Given the description of an element on the screen output the (x, y) to click on. 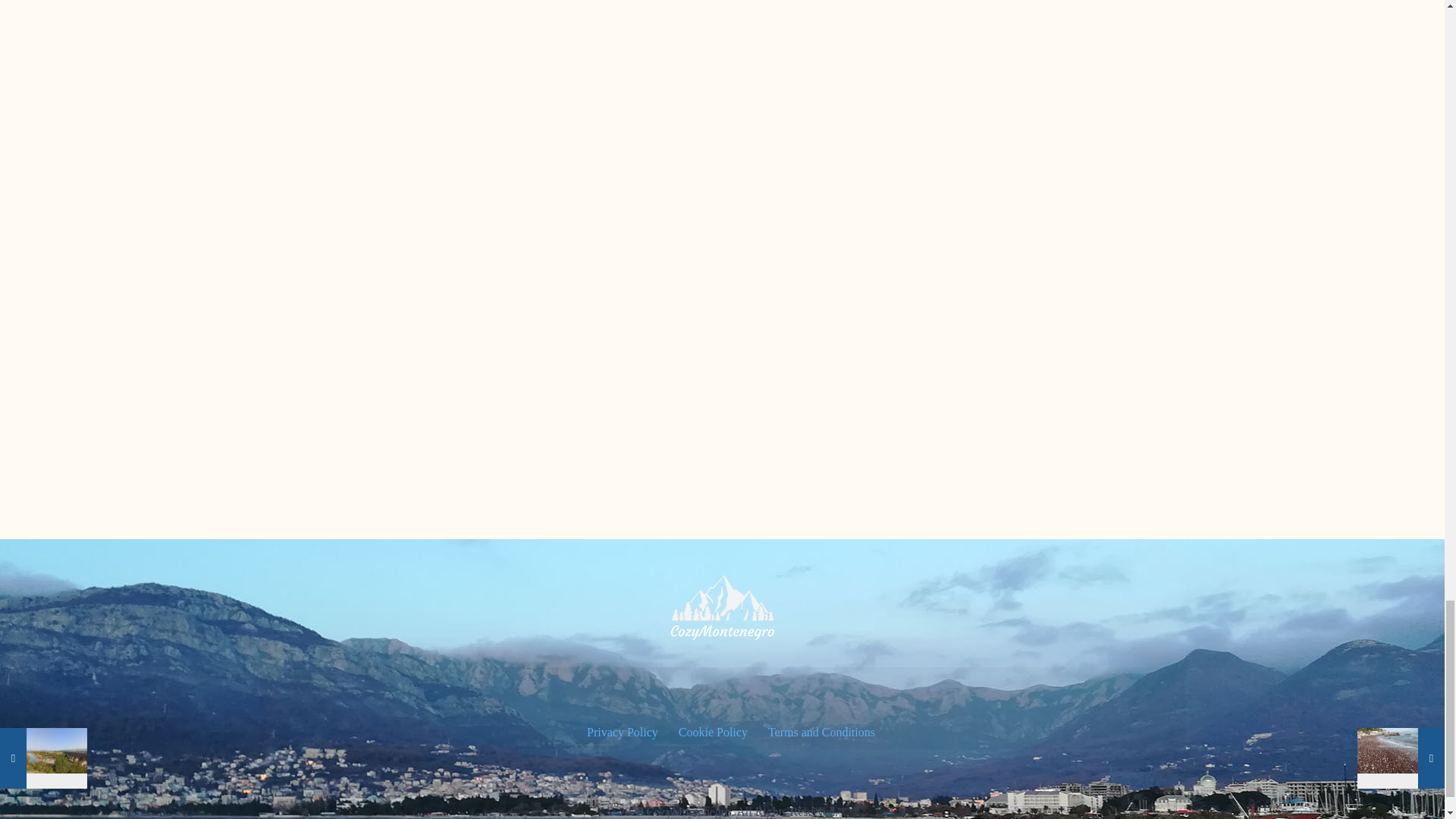
Cookie Policy (712, 732)
Privacy Policy (621, 732)
Terms and Conditions (820, 732)
